Given the description of an element on the screen output the (x, y) to click on. 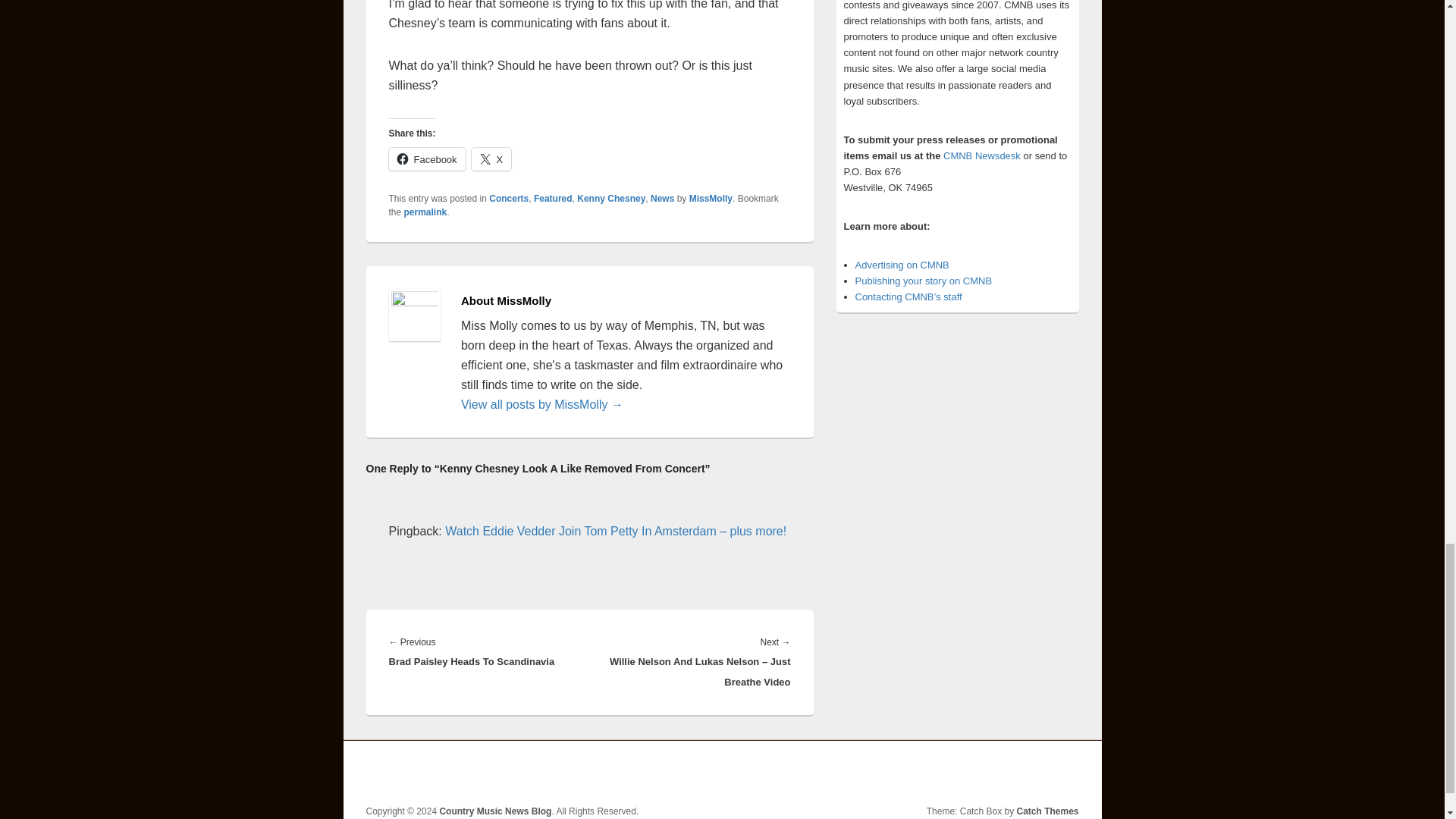
Spotify (1065, 772)
Email CMNB (981, 155)
MissMolly (710, 198)
Country Music News (924, 280)
Permalink to Kenny Chesney Look A Like Removed From Concert (425, 212)
permalink (425, 212)
Email CMNB (909, 296)
Facebook (426, 159)
Concerts (508, 198)
Featured (553, 198)
News (662, 198)
Kenny Chesney (610, 198)
Click to share on X (491, 159)
Click to share on Facebook (426, 159)
X (491, 159)
